Given the description of an element on the screen output the (x, y) to click on. 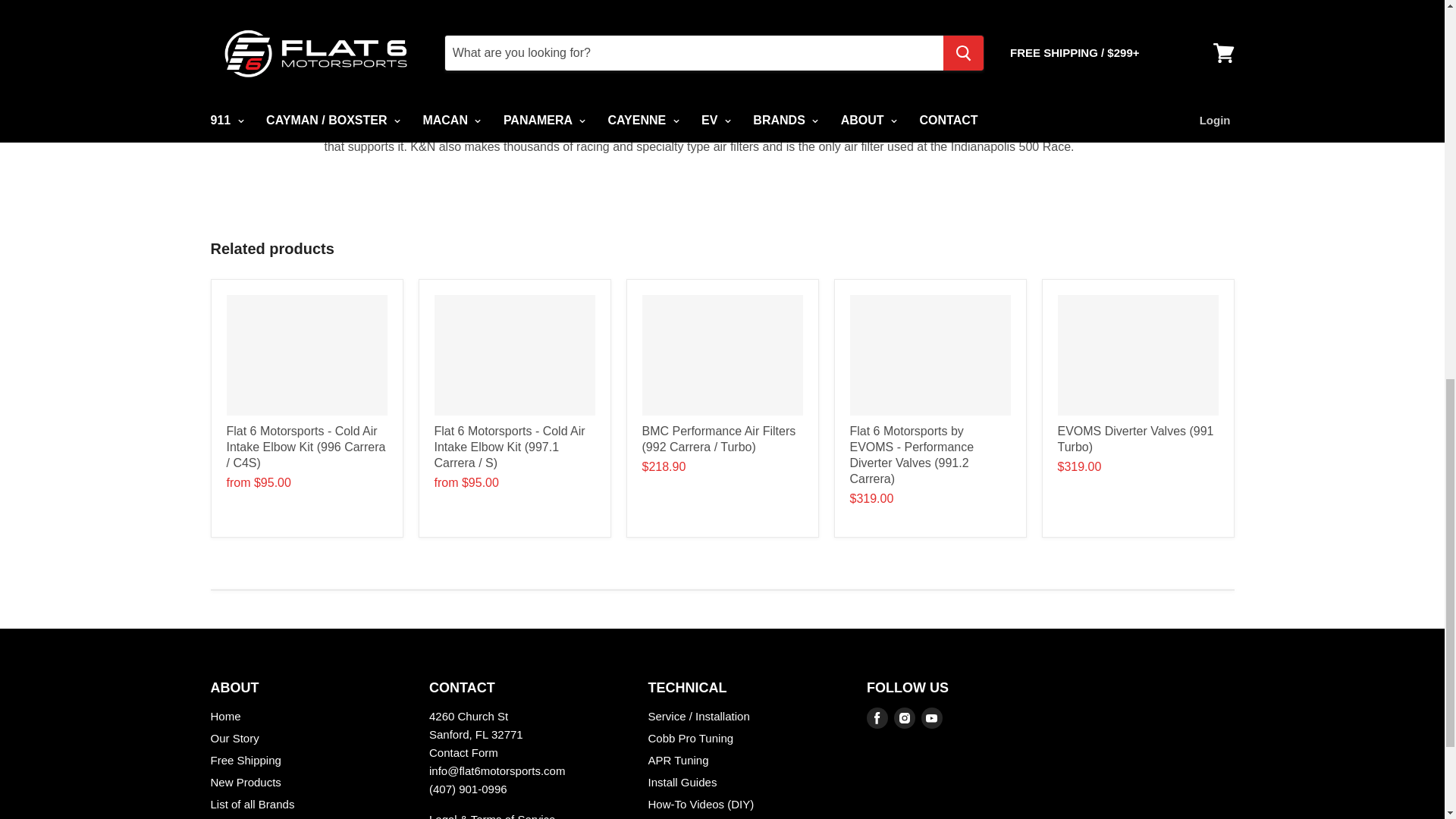
Youtube (931, 718)
Legal (491, 816)
Facebook (877, 718)
Instagram (904, 718)
